Given the description of an element on the screen output the (x, y) to click on. 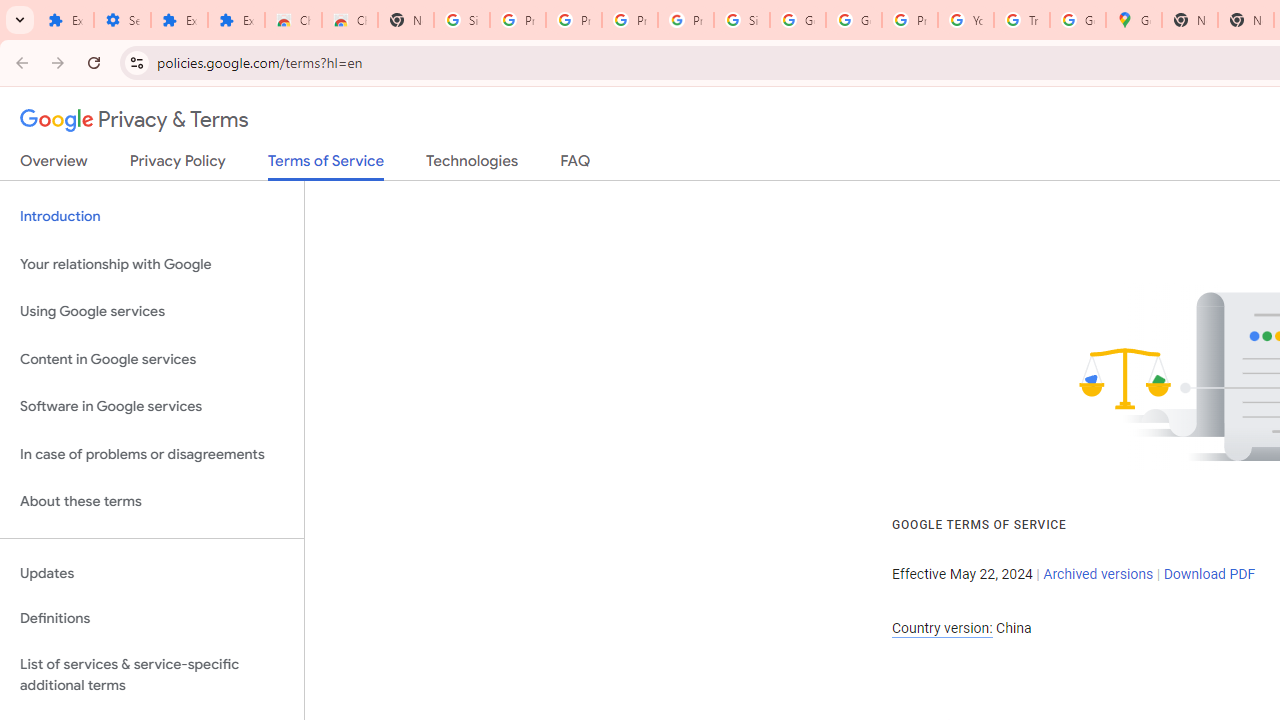
Software in Google services (152, 407)
Chrome Web Store - Themes (349, 20)
About these terms (152, 502)
Extensions (65, 20)
In case of problems or disagreements (152, 453)
